Given the description of an element on the screen output the (x, y) to click on. 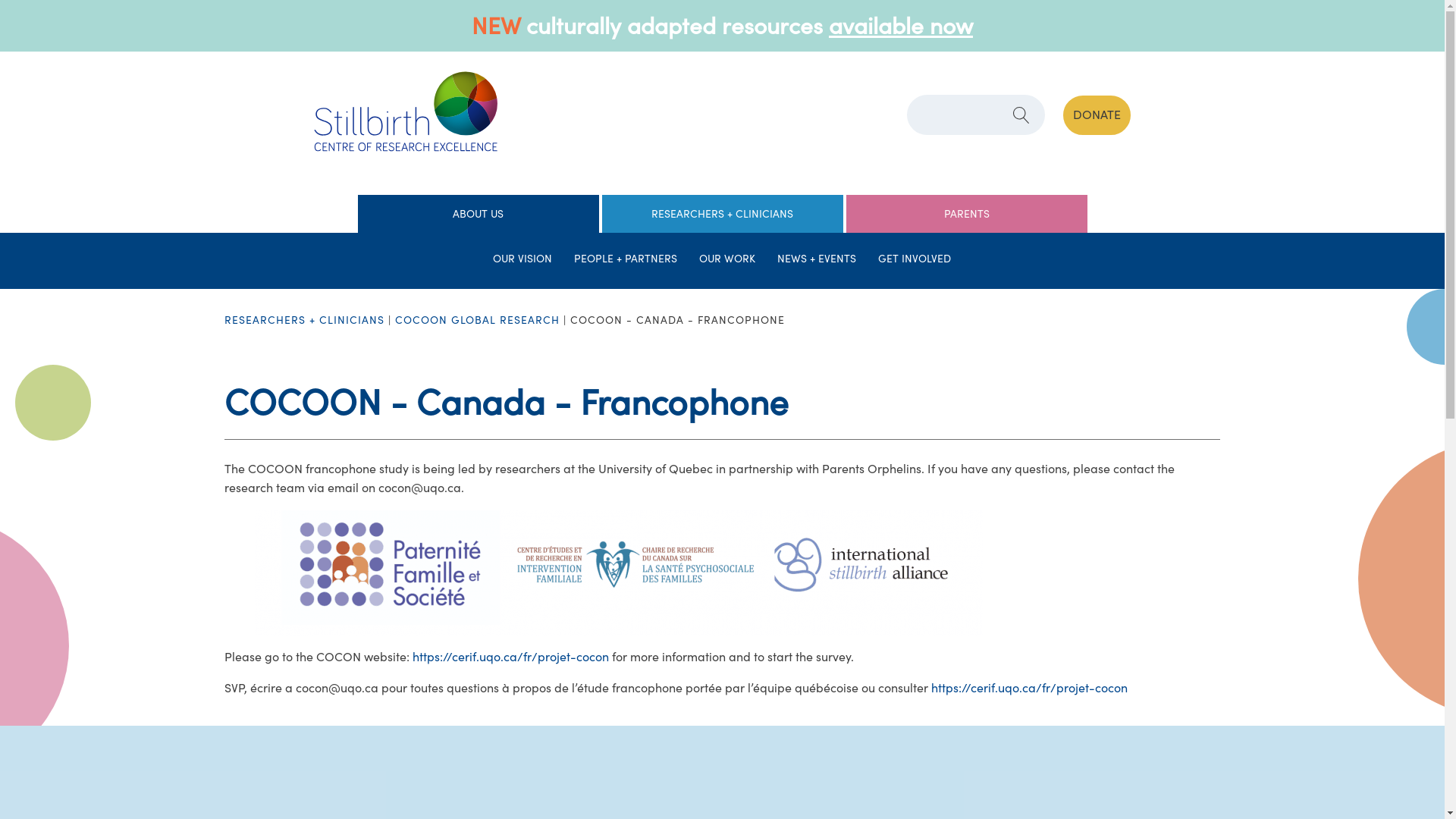
available now Element type: text (900, 25)
GET INVOLVED Element type: text (914, 260)
https://cerif.uqo.ca/fr/projet-cocon Element type: text (510, 657)
OUR WORK Element type: text (727, 260)
PARENTS Element type: text (965, 215)
PEOPLE + PARTNERS Element type: text (625, 260)
NEWS + EVENTS Element type: text (816, 260)
DONATE Element type: text (1096, 115)
Search Element type: text (31, 13)
OUR VISION Element type: text (522, 260)
COCOON GLOBAL RESEARCH Element type: text (477, 320)
ABOUT US Element type: text (477, 215)
RESEARCHERS + CLINICIANS Element type: text (304, 320)
RESEARCHERS + CLINICIANS Element type: text (722, 215)
https://cerif.uqo.ca/fr/projet-cocon Element type: text (1029, 688)
